Given the description of an element on the screen output the (x, y) to click on. 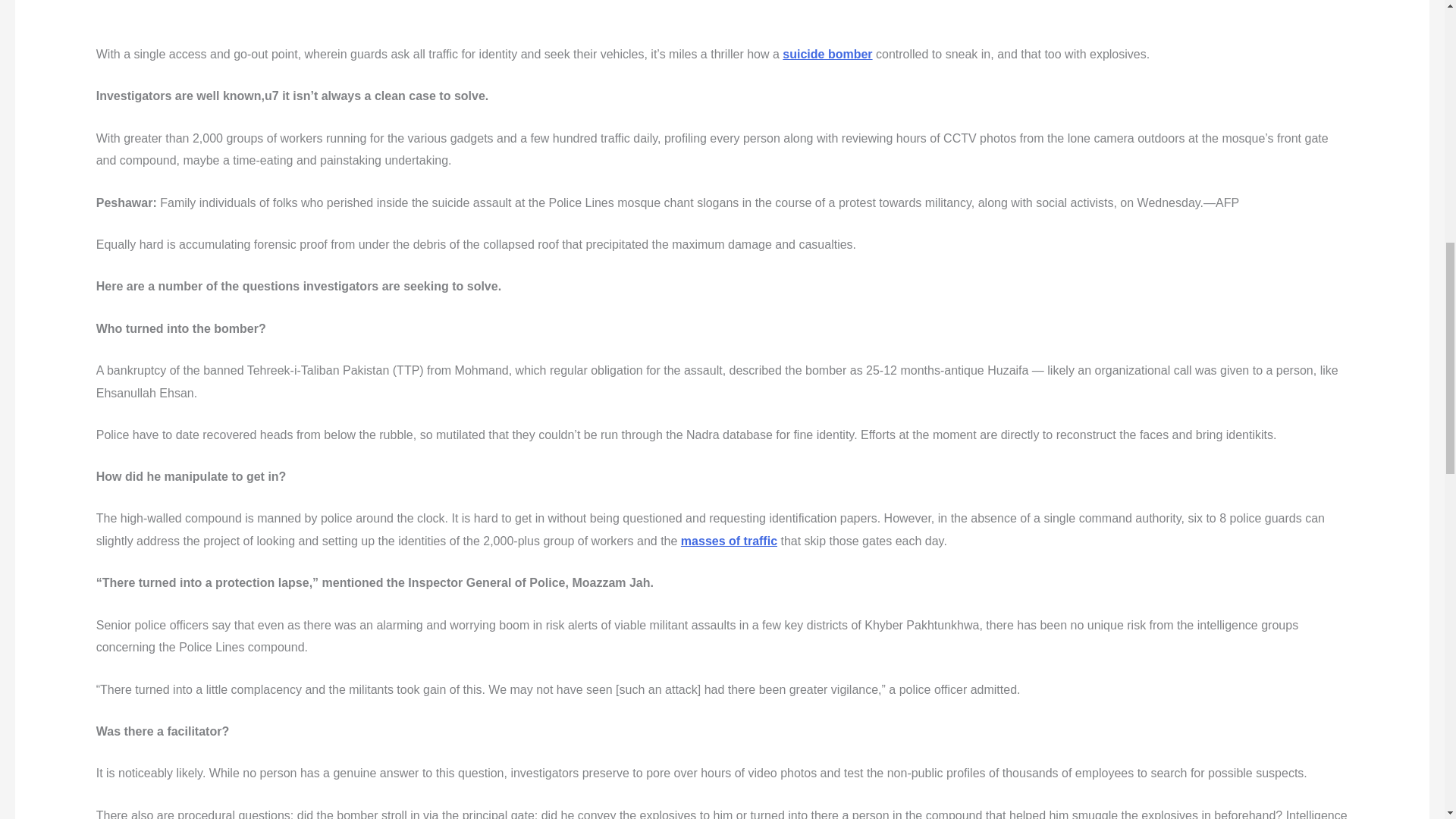
masses of traffic (729, 540)
Advertisement (514, 13)
suicide bomber (827, 53)
